Given the description of an element on the screen output the (x, y) to click on. 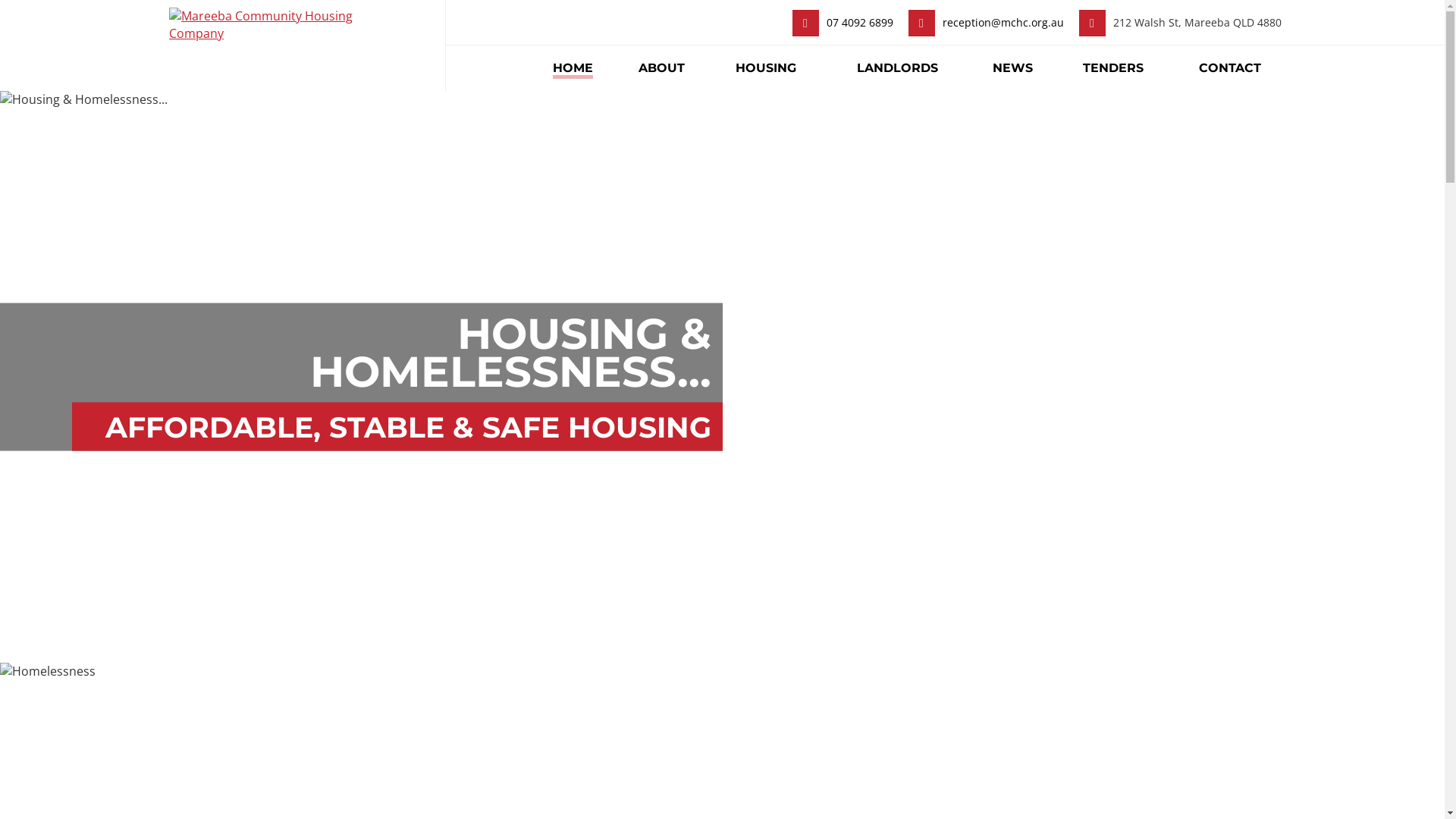
TENDERS Element type: text (1113, 68)
07 4092 6899 Element type: text (859, 22)
CONTACT Element type: text (1229, 68)
NEWS Element type: text (1012, 68)
reception@mchc.org.au Element type: text (1002, 22)
ABOUT Element type: text (661, 68)
HOME Element type: text (572, 68)
HOUSING Element type: text (765, 68)
LANDLORDS Element type: text (897, 68)
